Given the description of an element on the screen output the (x, y) to click on. 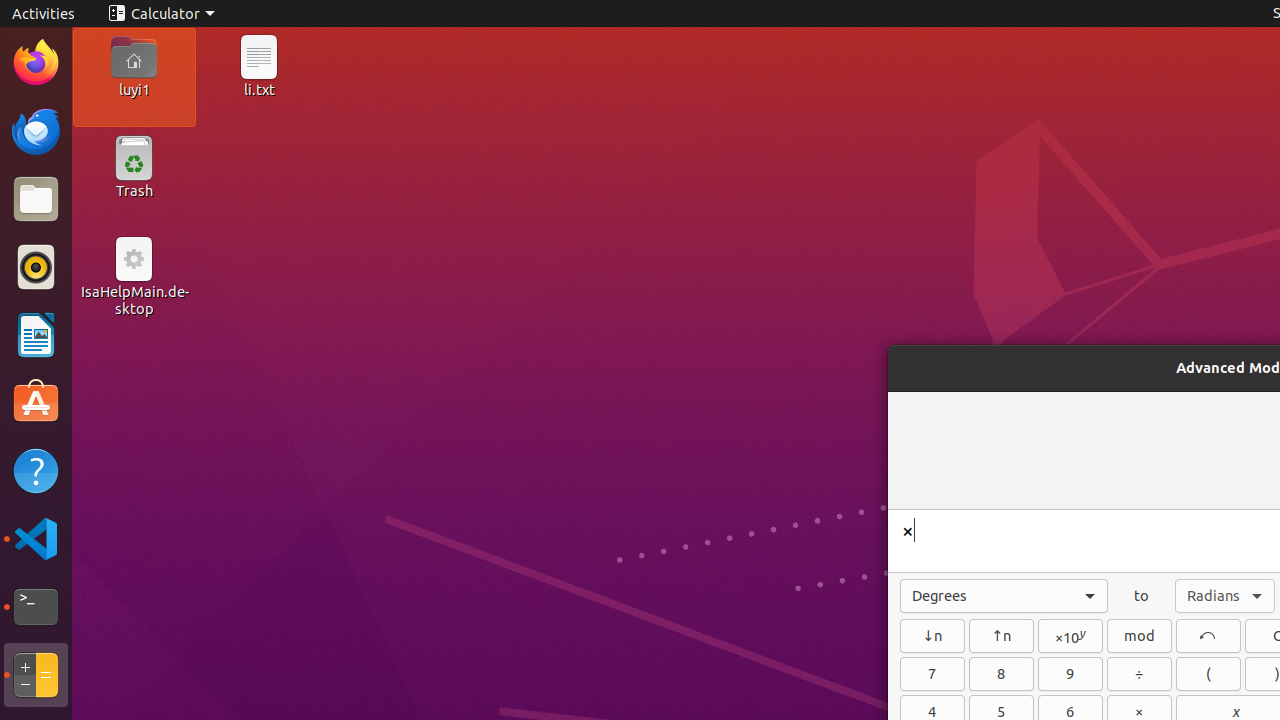
Calculator Element type: menu (161, 13)
Subscript Element type: toggle-button (932, 636)
÷ Element type: push-button (1139, 674)
